Given the description of an element on the screen output the (x, y) to click on. 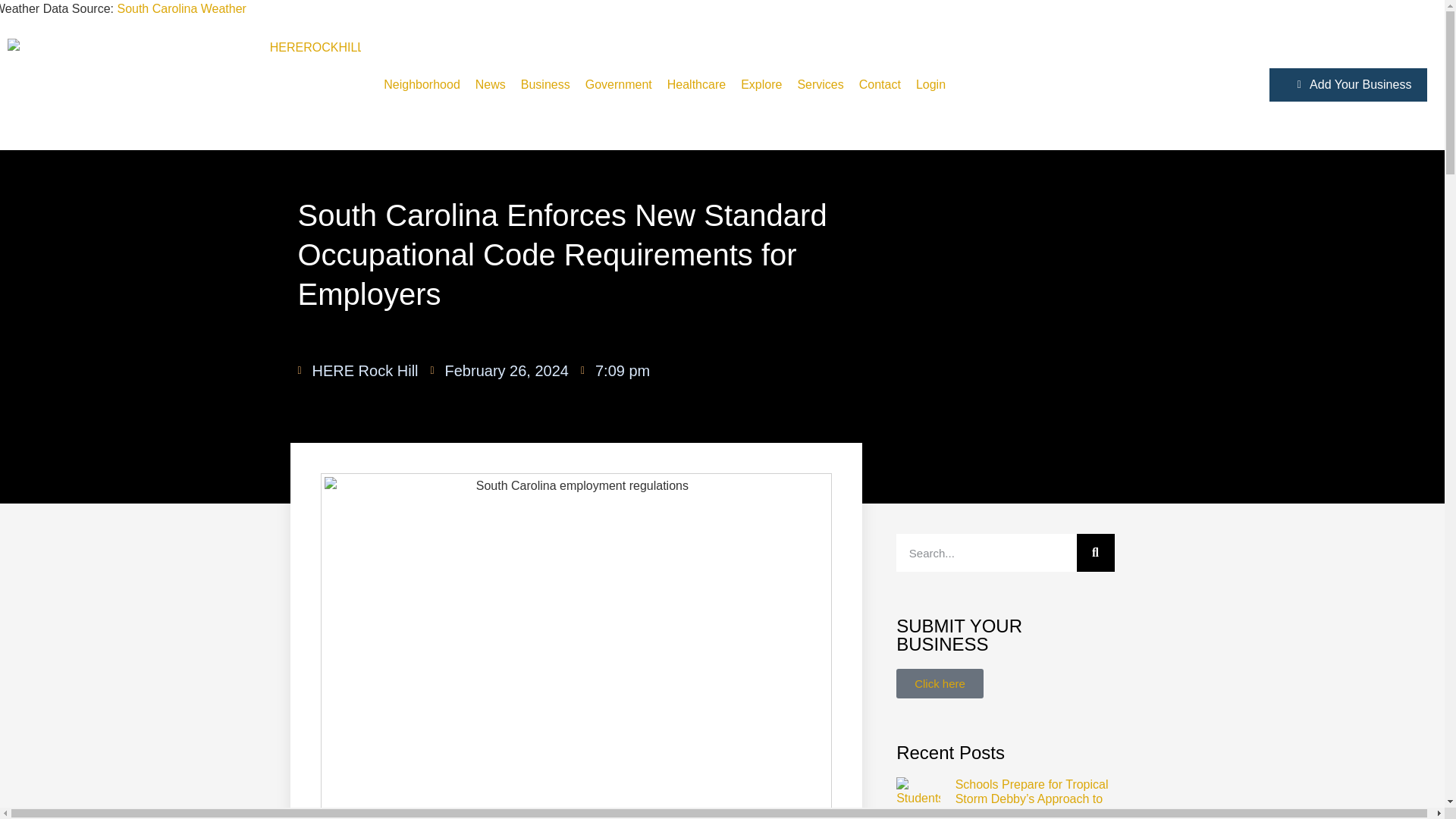
Government (618, 84)
News (490, 84)
South Carolina Weather (181, 8)
Healthcare (696, 84)
Neighborhood (422, 84)
Business (545, 84)
Services (820, 84)
Explore (760, 84)
